Given the description of an element on the screen output the (x, y) to click on. 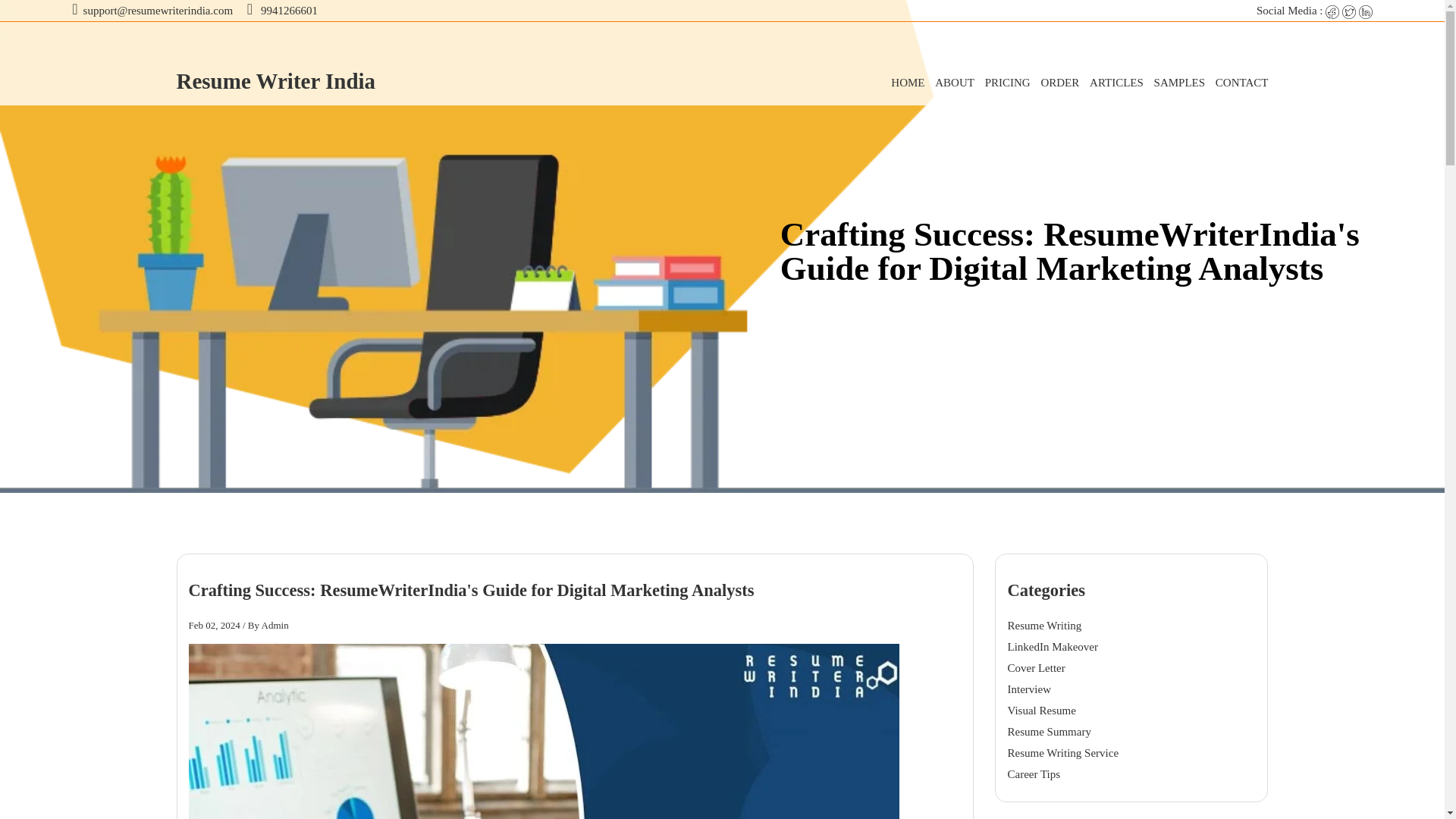
Resume Summary (1048, 731)
Visual Resume (1041, 710)
Resume Writing Service (1062, 752)
PRICING (1003, 82)
Interview (1029, 689)
HOME (903, 82)
CONTACT (1238, 82)
ABOUT (950, 82)
ARTICLES (1111, 82)
SAMPLES (1176, 82)
Resume Writing (1047, 627)
ORDER (1055, 82)
Cover Letter (1036, 667)
LinkedIn Makeover (1056, 647)
Career Tips (1033, 774)
